Given the description of an element on the screen output the (x, y) to click on. 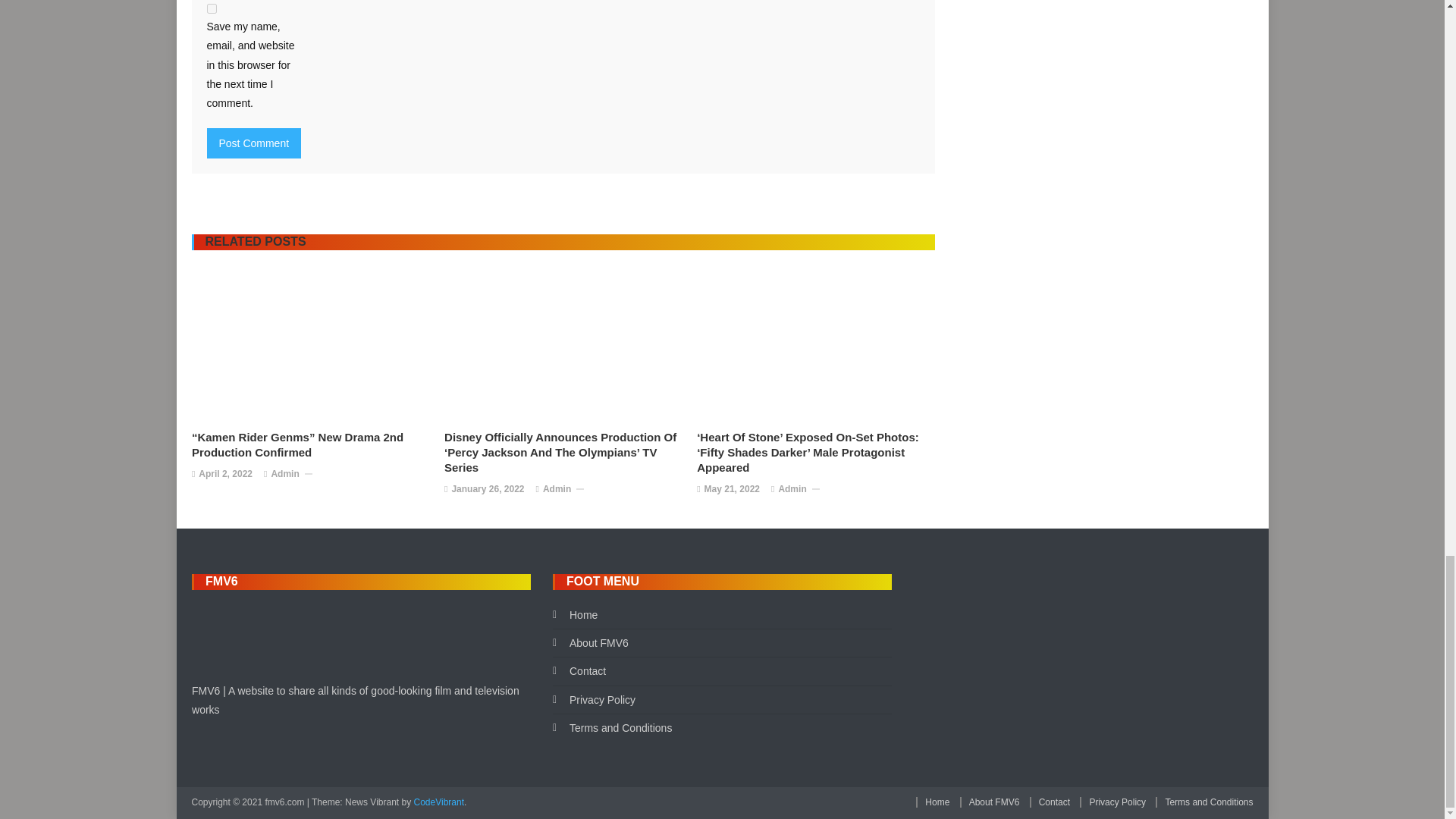
Post Comment (253, 142)
April 2, 2022 (224, 474)
Post Comment (253, 142)
Admin (556, 489)
Admin (284, 474)
January 26, 2022 (487, 489)
yes (210, 8)
